Given the description of an element on the screen output the (x, y) to click on. 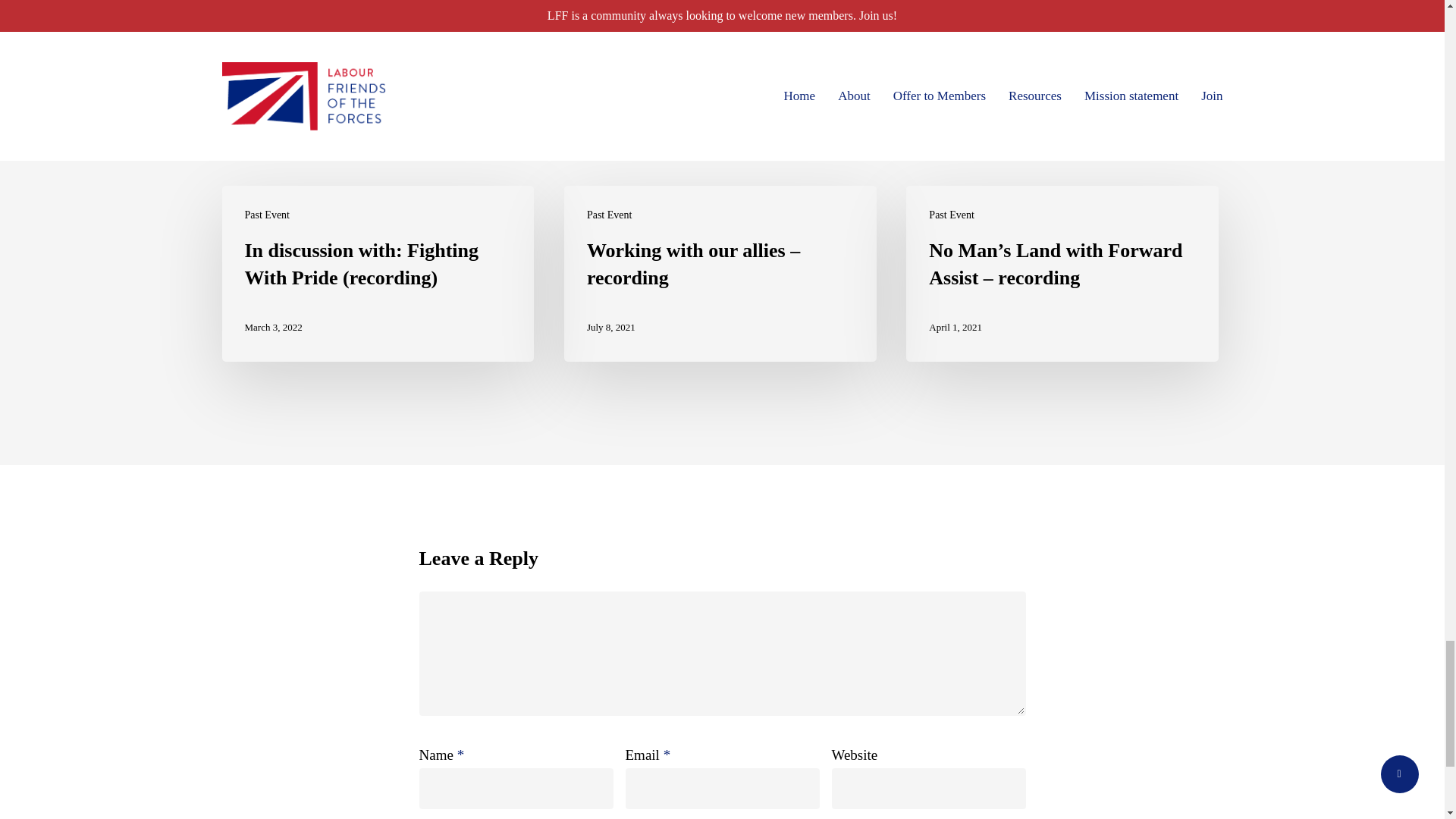
Past Event (951, 214)
Past Event (608, 214)
Past Event (266, 214)
